Given the description of an element on the screen output the (x, y) to click on. 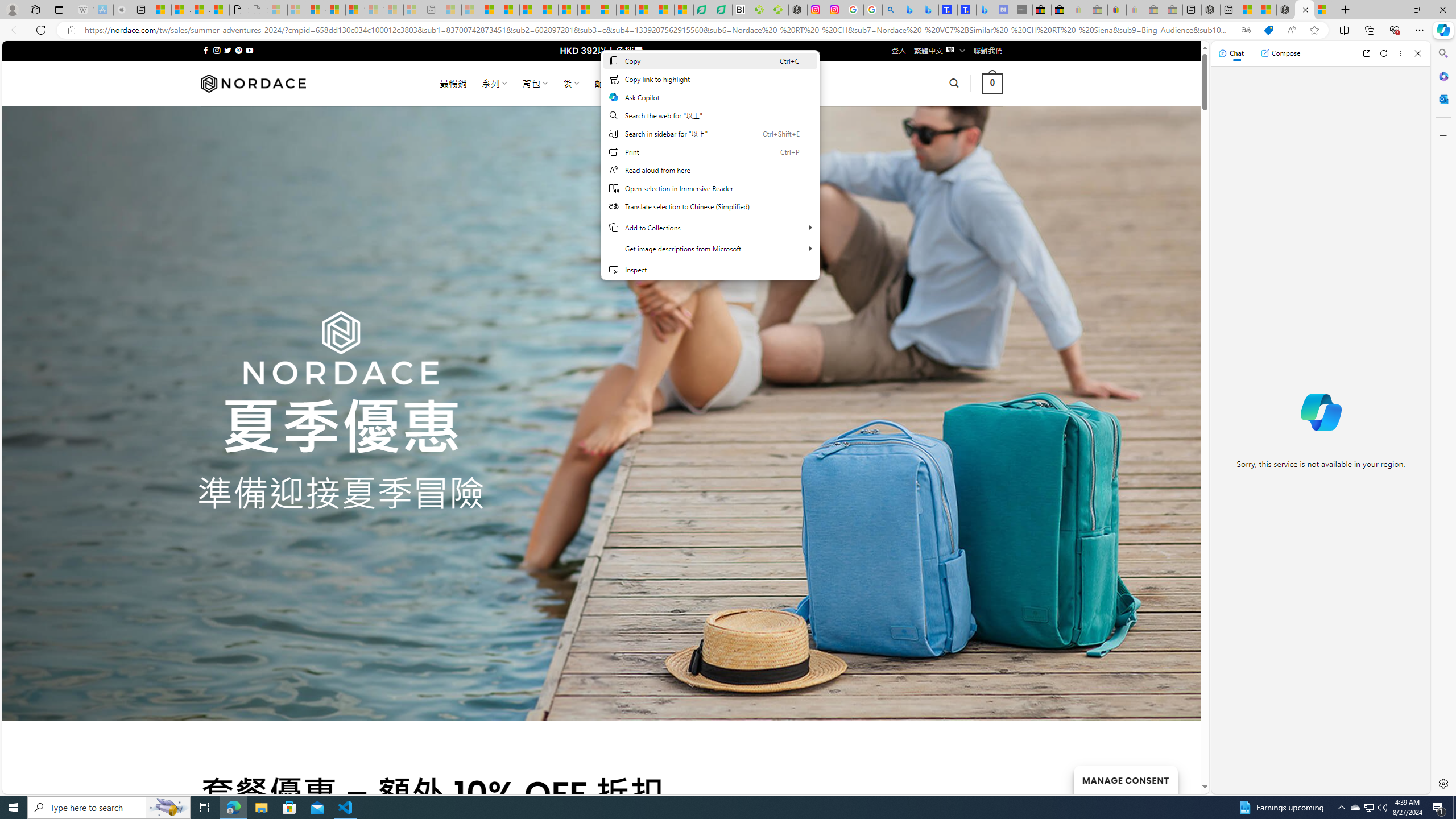
Top Stories - MSN - Sleeping (450, 9)
Inspect (710, 269)
Add to Collections (710, 227)
Open selection in Immersive Reader (710, 188)
Print (710, 151)
Get image descriptions from Microsoft (710, 248)
Sign in to your Microsoft account - Sleeping (277, 9)
Translate selection to Chinese (Simplified) (710, 206)
